Given the description of an element on the screen output the (x, y) to click on. 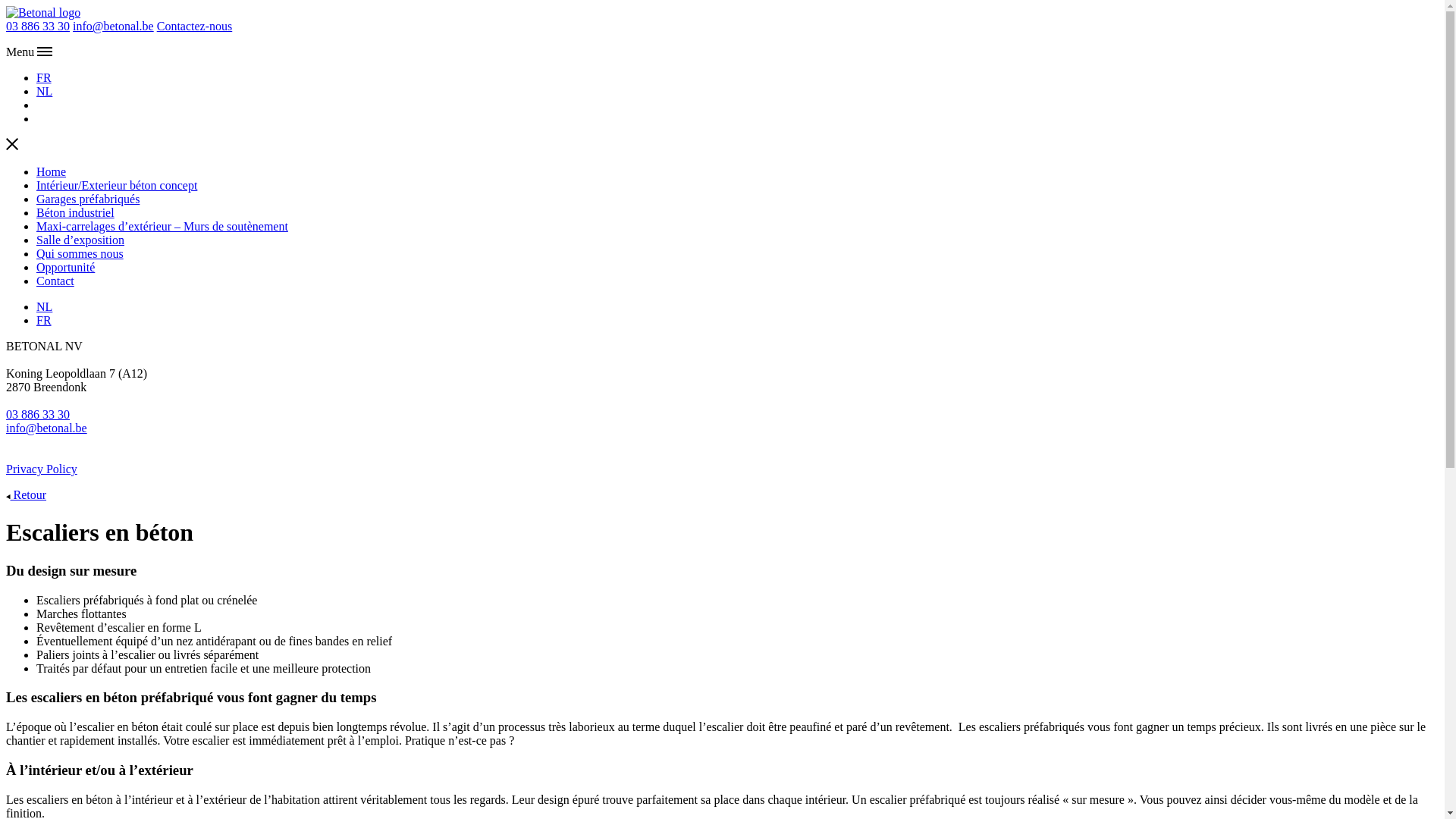
03 886 33 30 Element type: text (37, 25)
Contactez-nous Element type: text (194, 25)
Home Element type: text (50, 171)
info@betonal.be Element type: text (46, 427)
NL Element type: text (44, 90)
Privacy Policy Element type: text (41, 468)
Contact Element type: text (55, 280)
FR Element type: text (43, 77)
03 886 33 30 Element type: text (37, 413)
Qui sommes nous Element type: text (79, 253)
info@betonal.be Element type: text (112, 25)
Retour Element type: text (26, 494)
FR Element type: text (43, 319)
NL Element type: text (44, 306)
